Given the description of an element on the screen output the (x, y) to click on. 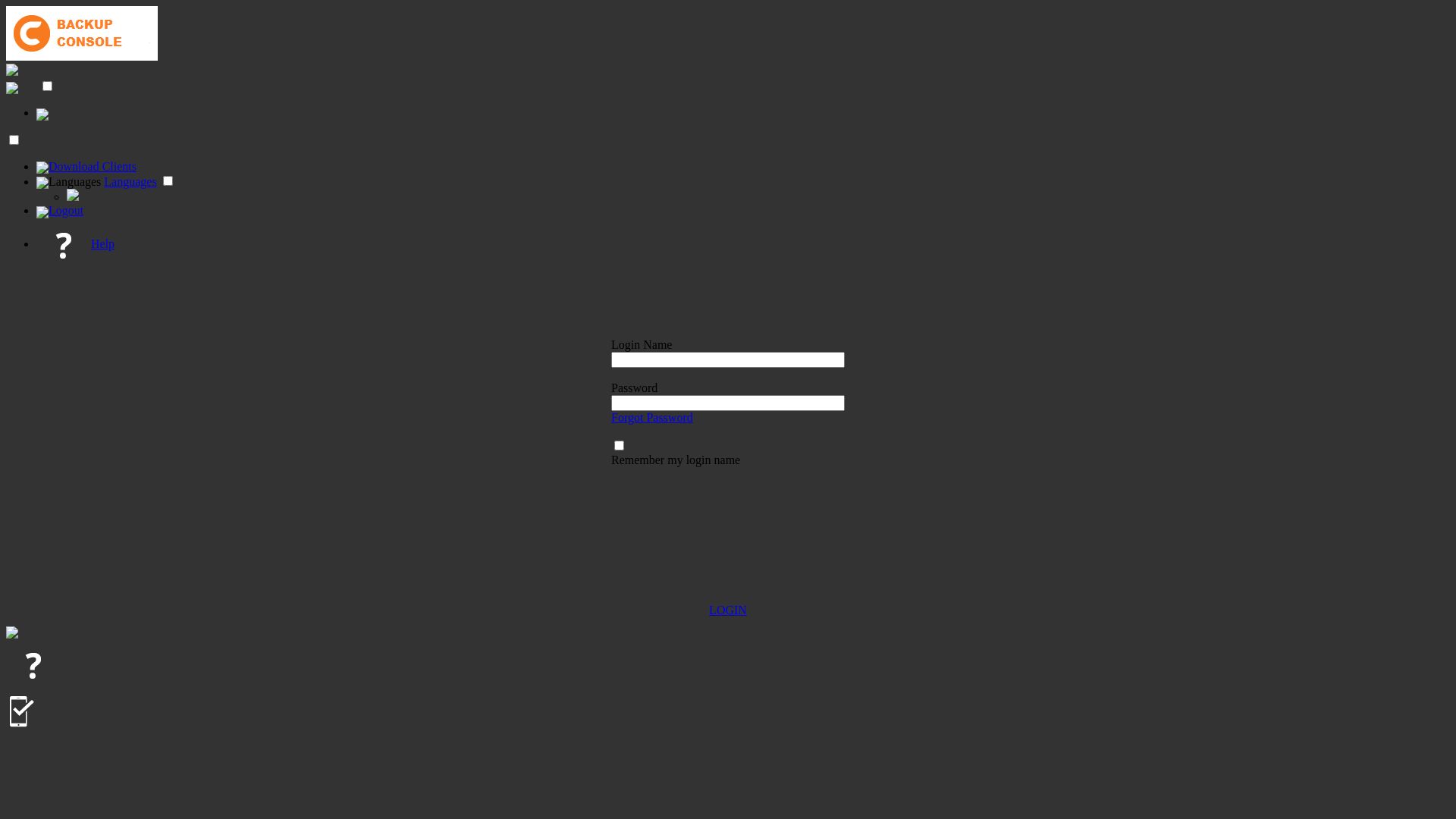
Help Element type: text (75, 243)
Mobile Friendly Element type: hover (24, 711)
Languages Element type: text (129, 181)
Logout Element type: text (59, 209)
Forgot Password Element type: text (652, 417)
LOGIN Element type: text (727, 616)
Help Element type: text (742, 245)
Download Clients Element type: text (86, 166)
